Given the description of an element on the screen output the (x, y) to click on. 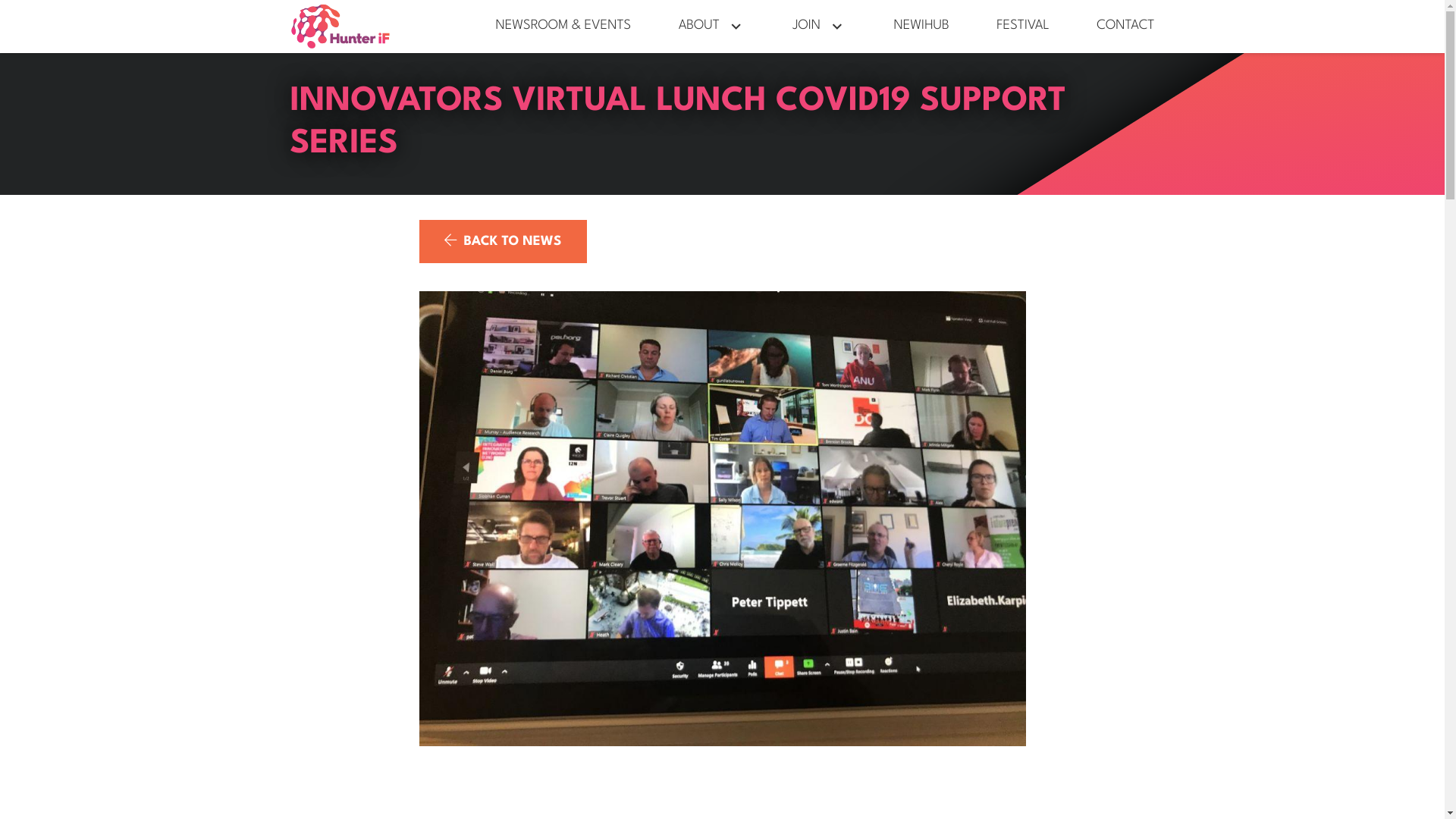
NEWIHUB Element type: text (921, 26)
FESTIVAL Element type: text (1022, 26)
ABOUT Element type: text (711, 26)
CONTACT Element type: text (1125, 26)
NEWSROOM & EVENTS Element type: text (563, 26)
BACK TO NEWS Element type: text (502, 240)
JOIN Element type: text (819, 26)
